Given the description of an element on the screen output the (x, y) to click on. 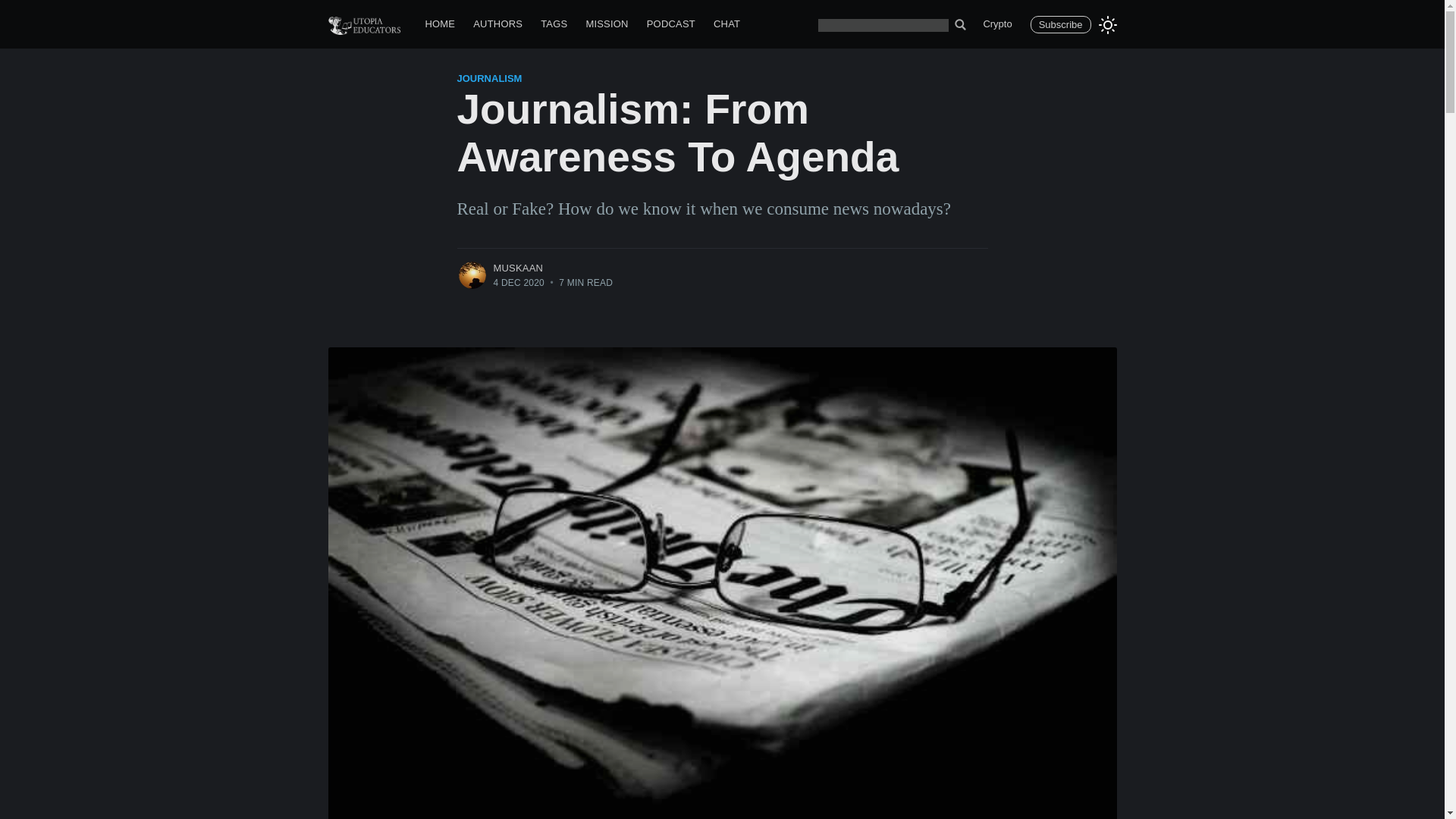
AUTHORS (497, 24)
JOURNALISM (489, 78)
MUSKAAN (518, 267)
CHAT (726, 24)
TAGS (553, 24)
Crypto (997, 24)
HOME (439, 24)
Subscribe (1060, 23)
PODCAST (670, 24)
MISSION (606, 24)
